Given the description of an element on the screen output the (x, y) to click on. 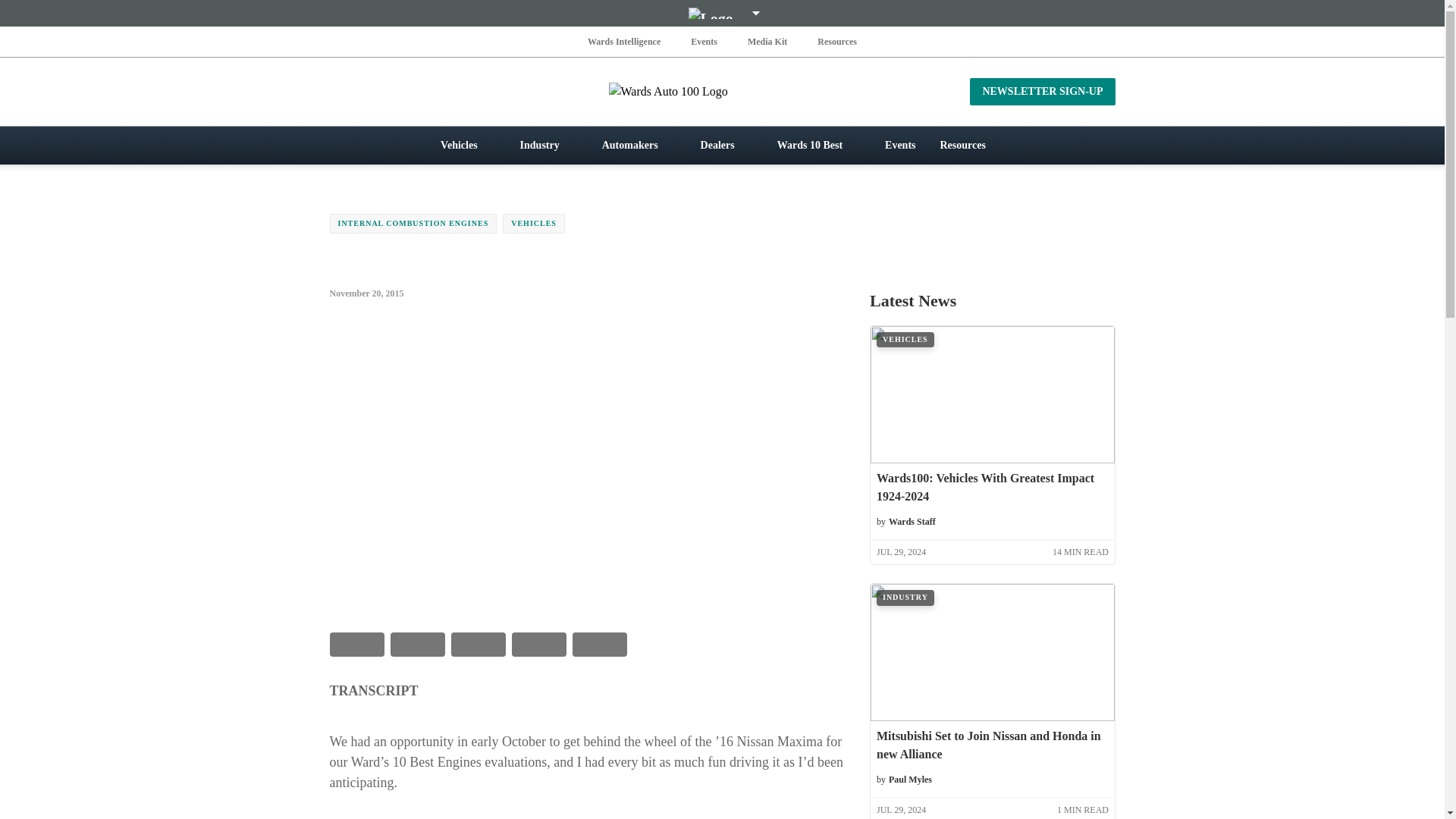
Wards Auto 100 Logo (721, 91)
Wards Intelligence (624, 41)
NEWSLETTER SIGN-UP (1042, 90)
Media Kit (767, 41)
Events (703, 41)
Resources (836, 41)
